Given the description of an element on the screen output the (x, y) to click on. 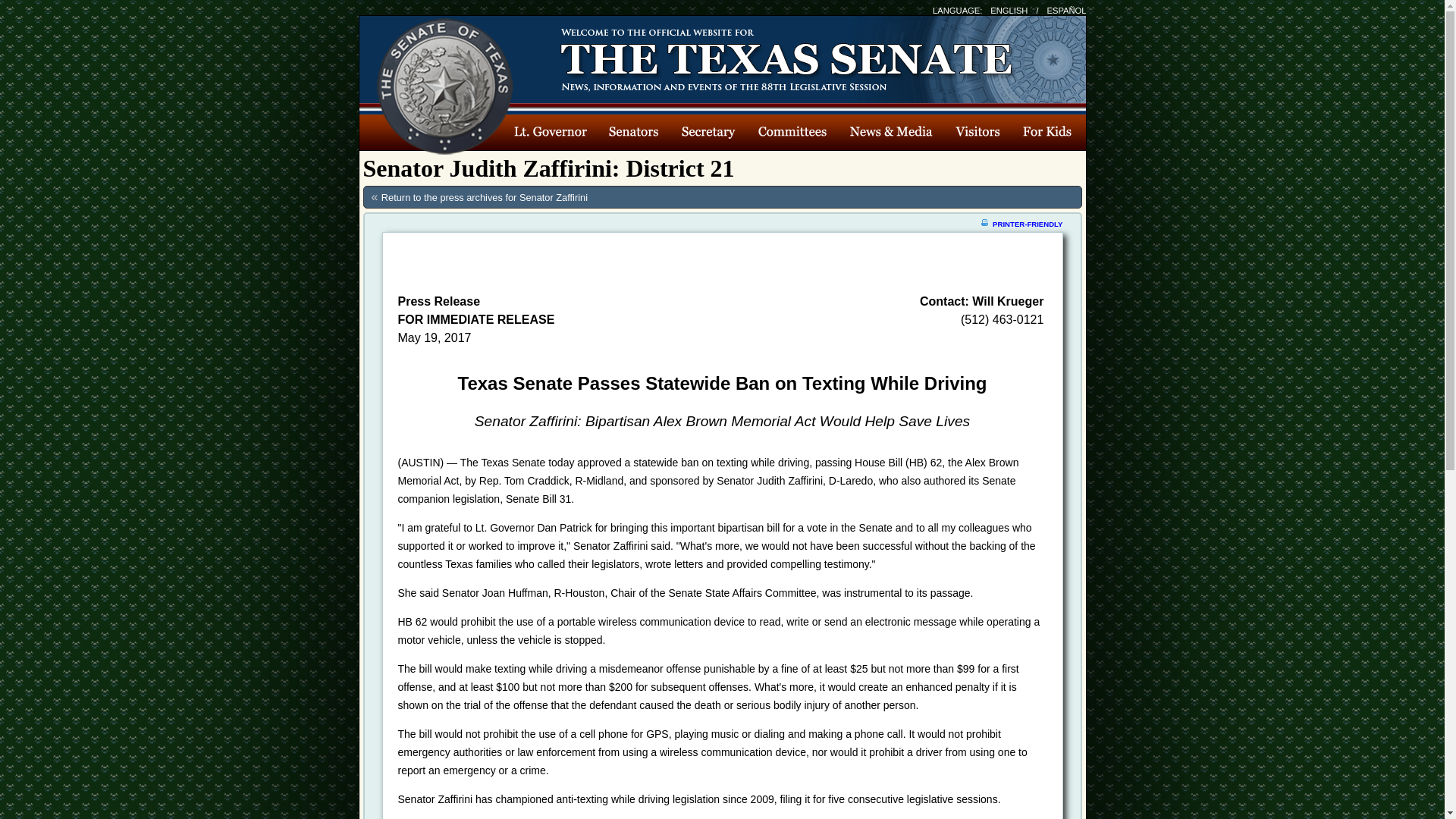
Welcome to the Official Website for the Texas Senate (801, 57)
ENGLISH (1008, 10)
print (984, 222)
